Given the description of an element on the screen output the (x, y) to click on. 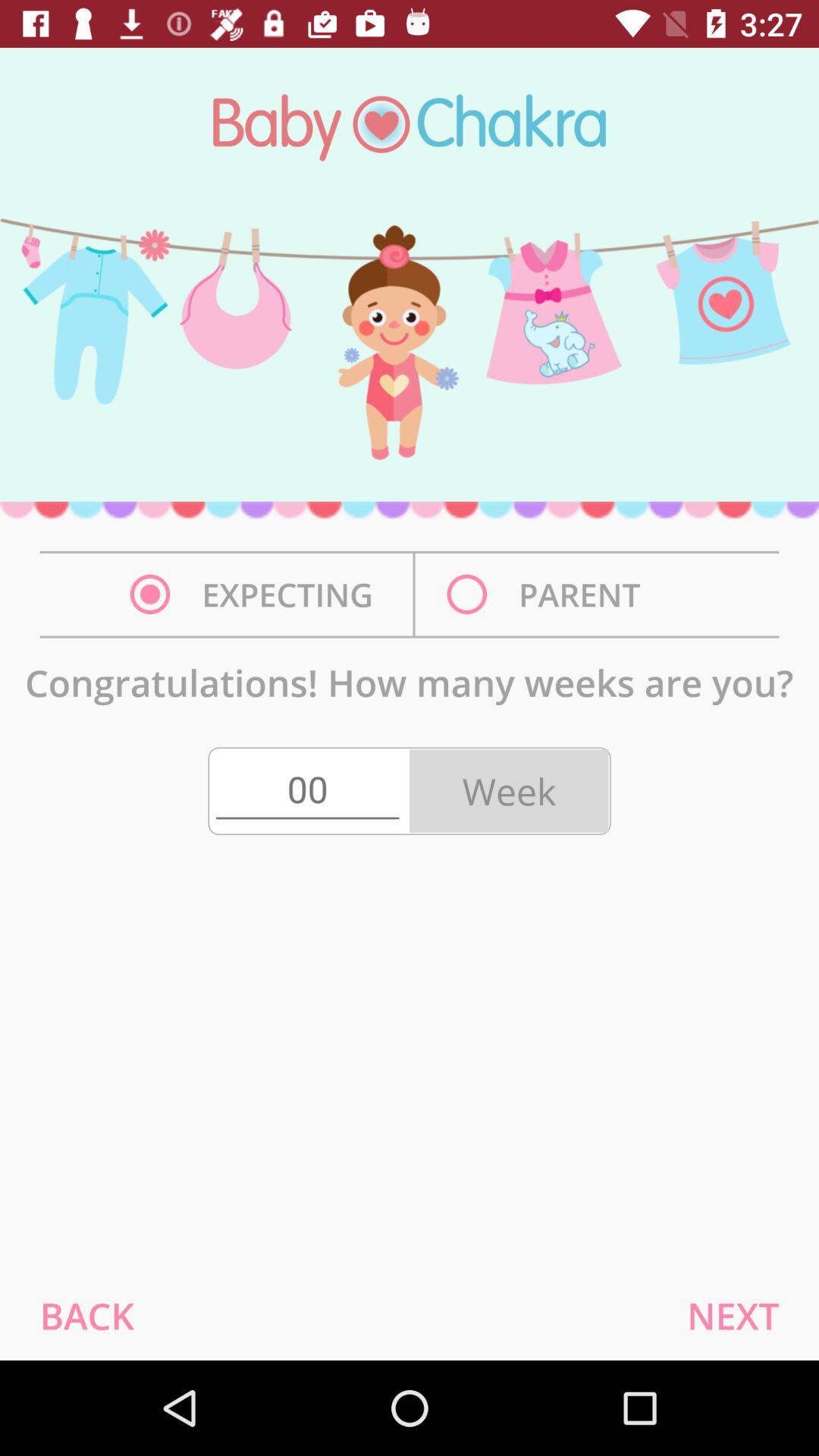
scroll until the expecting item (255, 594)
